Given the description of an element on the screen output the (x, y) to click on. 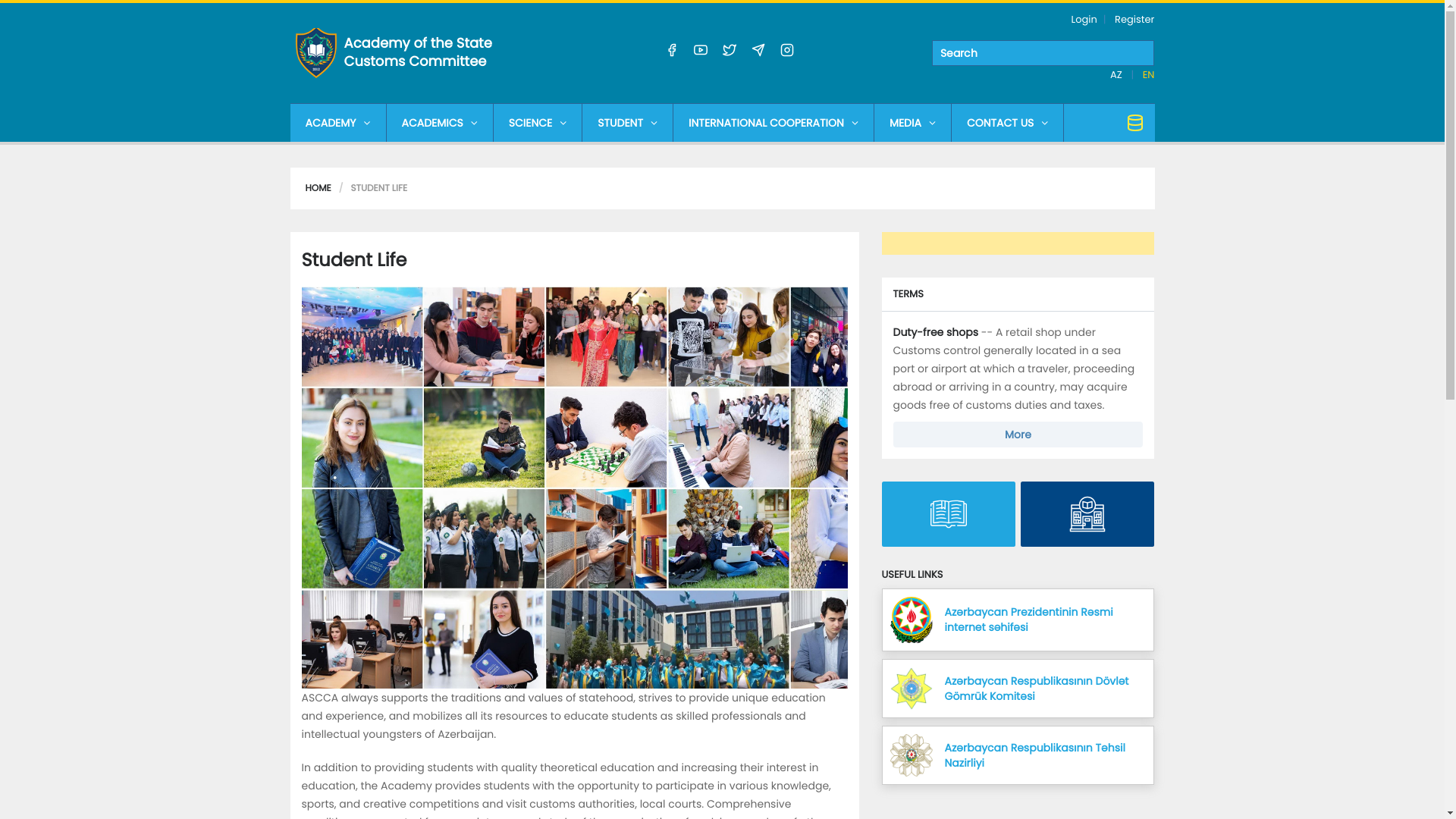
Academy of the State Customs Committee Element type: text (425, 52)
ACADEMICS Element type: text (439, 122)
HOME Element type: text (317, 188)
STUDENT Element type: text (627, 122)
Login Element type: text (1084, 19)
search Element type: hover (1042, 52)
CONTACT US Element type: text (1007, 122)
Register Element type: text (1134, 19)
INTERNATIONAL COOPERATION Element type: text (773, 122)
MEDIA Element type: text (912, 122)
AZ Element type: text (1117, 74)
SCIENCE Element type: text (537, 122)
ACADEMY Element type: text (337, 122)
More Element type: text (1018, 434)
EN Element type: text (1148, 74)
